Given the description of an element on the screen output the (x, y) to click on. 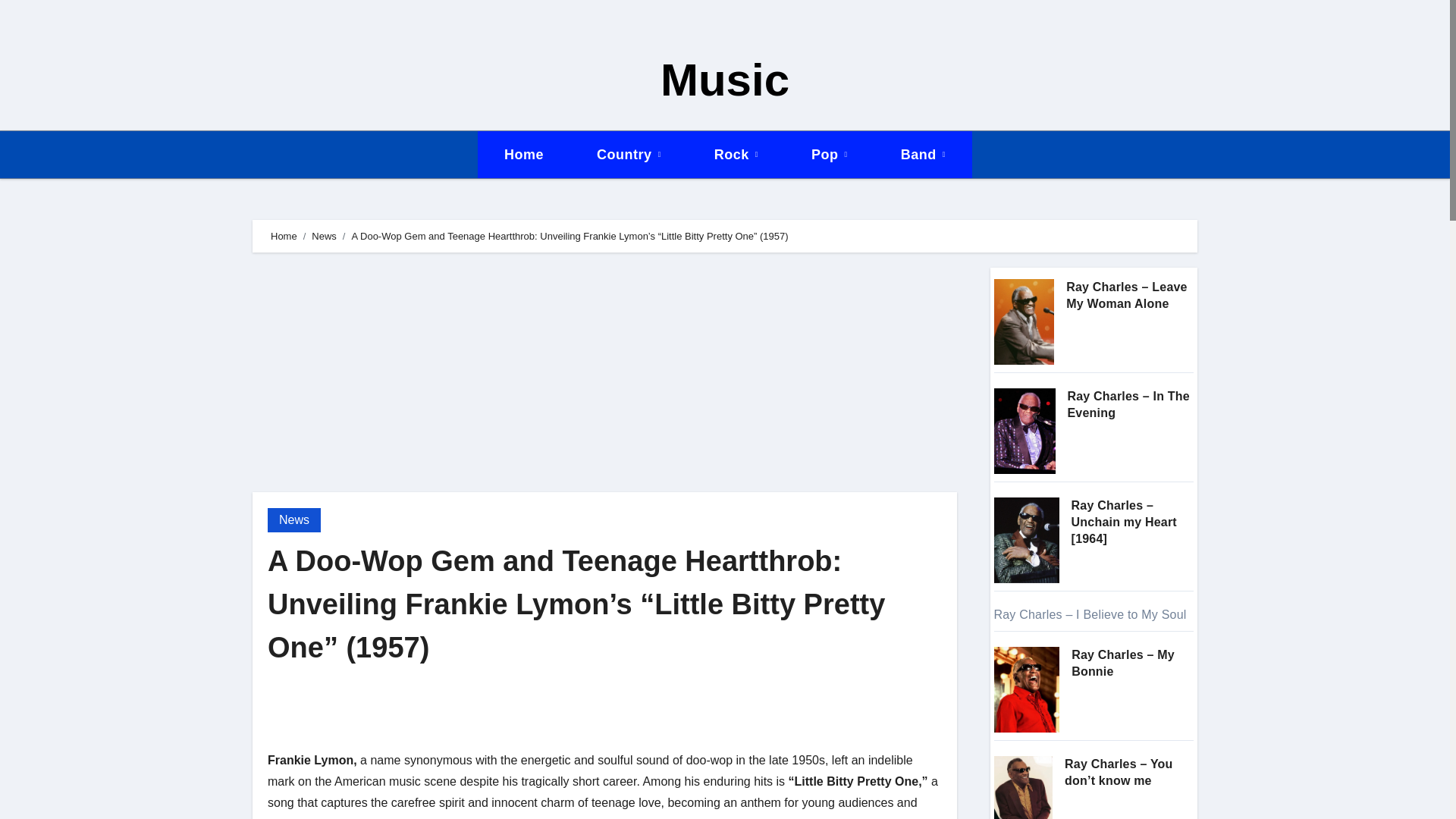
Pop (829, 154)
Music (725, 79)
Country (628, 154)
Pop (829, 154)
Band (922, 154)
Rock (736, 154)
Home (523, 154)
News (323, 235)
Home (523, 154)
News (293, 519)
Home (283, 235)
Country (628, 154)
Rock (736, 154)
